Given the description of an element on the screen output the (x, y) to click on. 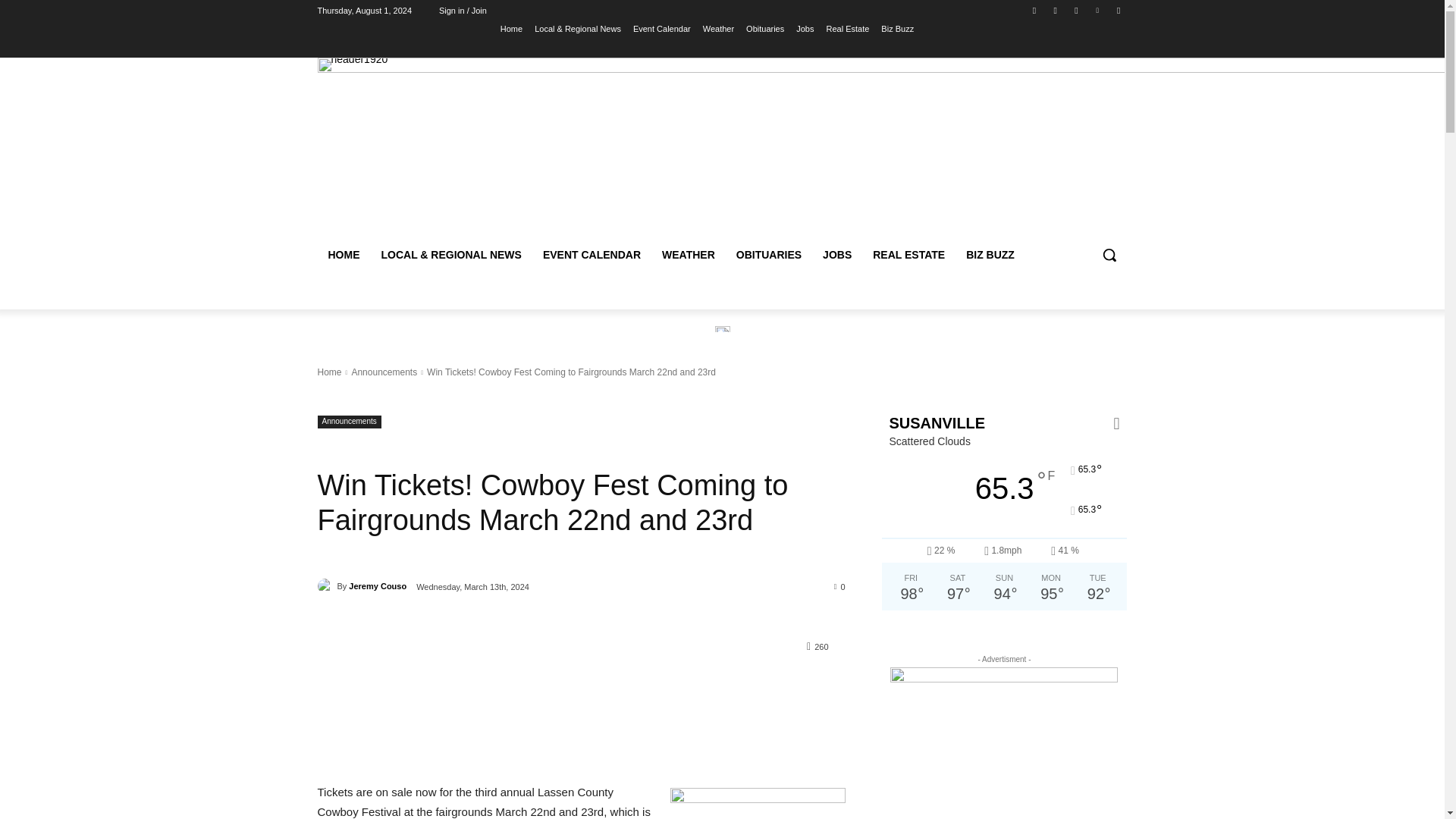
Real Estate (847, 28)
Obituaries (764, 28)
Event Calendar (661, 28)
Twitter (1075, 9)
JOBS (836, 254)
HOME (343, 254)
Jeremy Couso (326, 585)
Weather (718, 28)
OBITUARIES (768, 254)
Youtube (1117, 9)
BIZ BUZZ (990, 254)
WEATHER (687, 254)
Instagram (1055, 9)
Vimeo (1097, 9)
EVENT CALENDAR (591, 254)
